Given the description of an element on the screen output the (x, y) to click on. 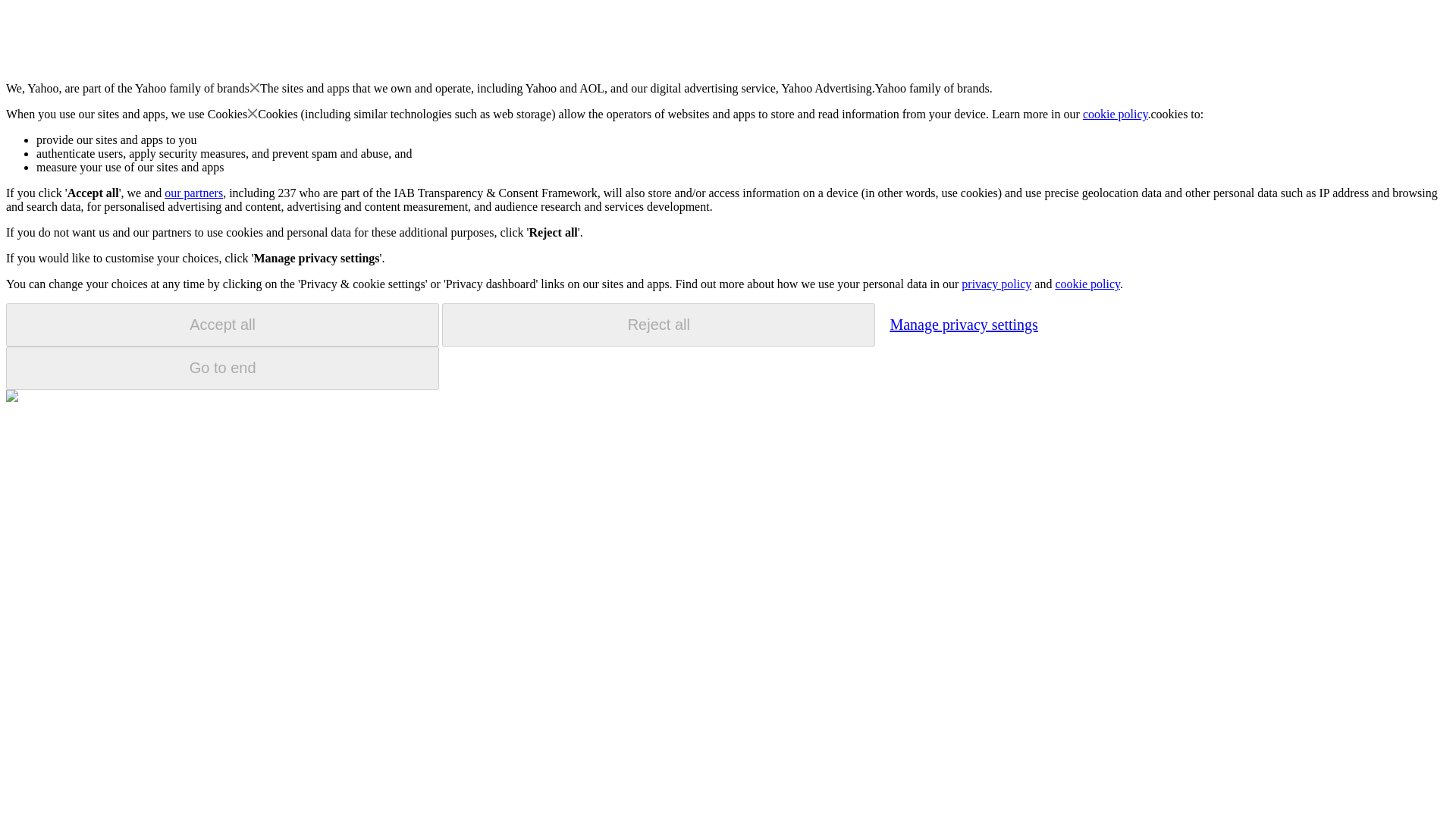
Reject all (658, 324)
cookie policy (1086, 283)
Manage privacy settings (963, 323)
cookie policy (1115, 113)
Accept all (222, 324)
Go to end (222, 367)
our partners (193, 192)
privacy policy (995, 283)
